Given the description of an element on the screen output the (x, y) to click on. 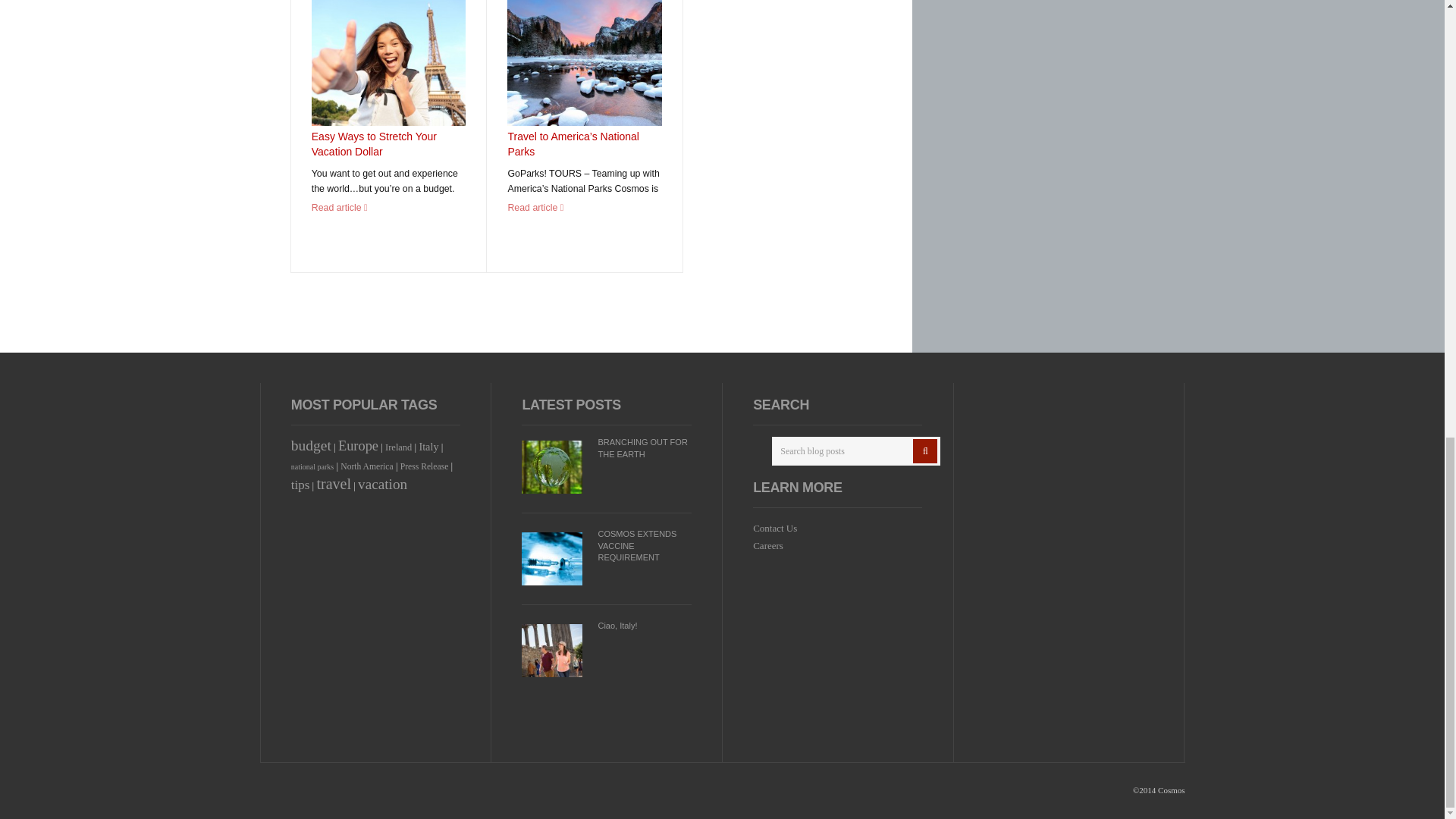
Search blog posts (855, 451)
Read article (339, 207)
Easy Ways to Stretch Your Vacation Dollar (373, 144)
Easy Ways to Stretch Your... (388, 63)
Read article (534, 207)
Easy Ways to Stretch Your Vacation Dollar (373, 144)
